Given the description of an element on the screen output the (x, y) to click on. 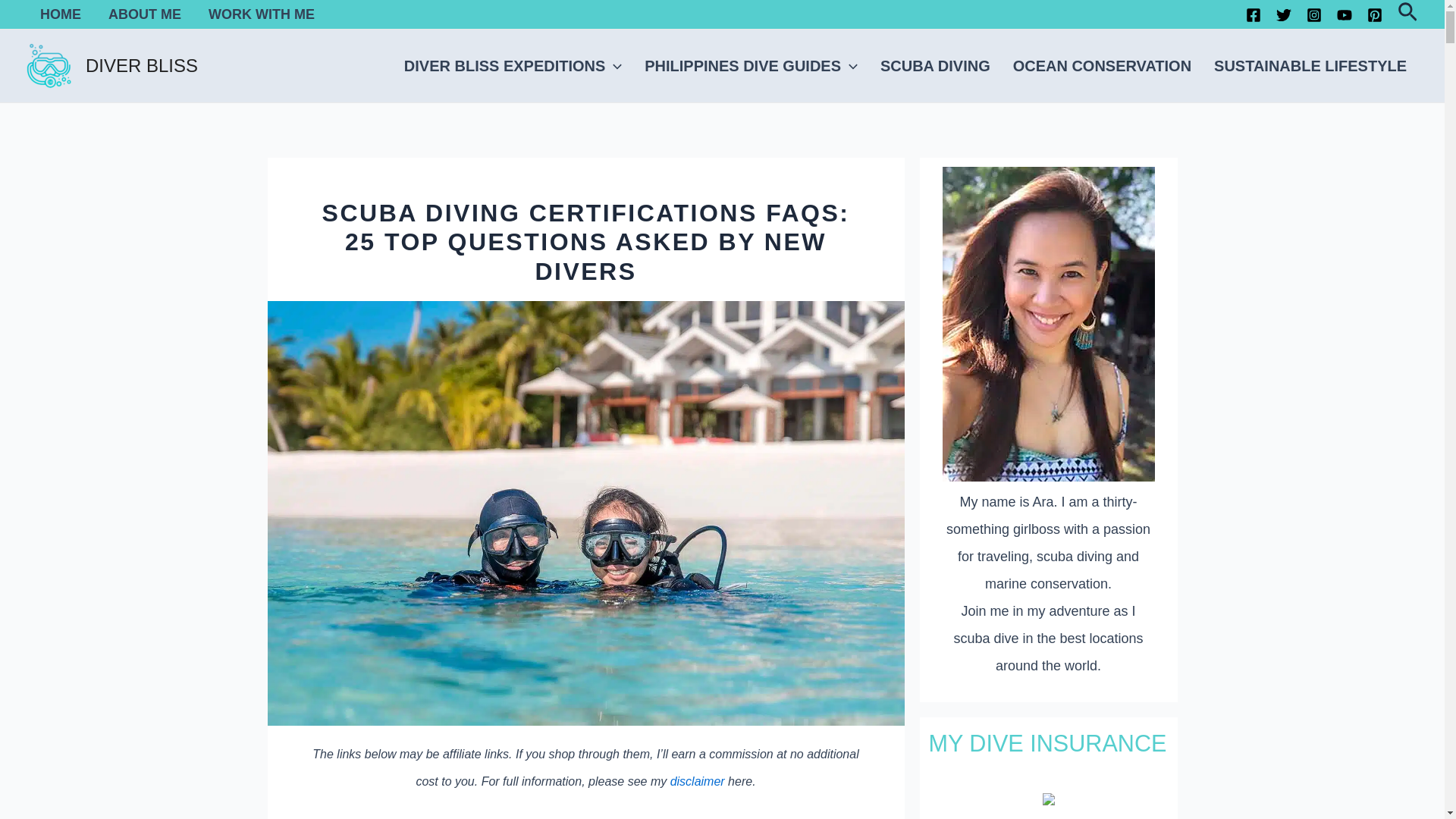
DIVER BLISS (141, 65)
HOME (60, 14)
WORK WITH ME (262, 14)
DIVER BLISS EXPEDITIONS (513, 66)
PHILIPPINES DIVE GUIDES (751, 66)
ABOUT ME (144, 14)
